Given the description of an element on the screen output the (x, y) to click on. 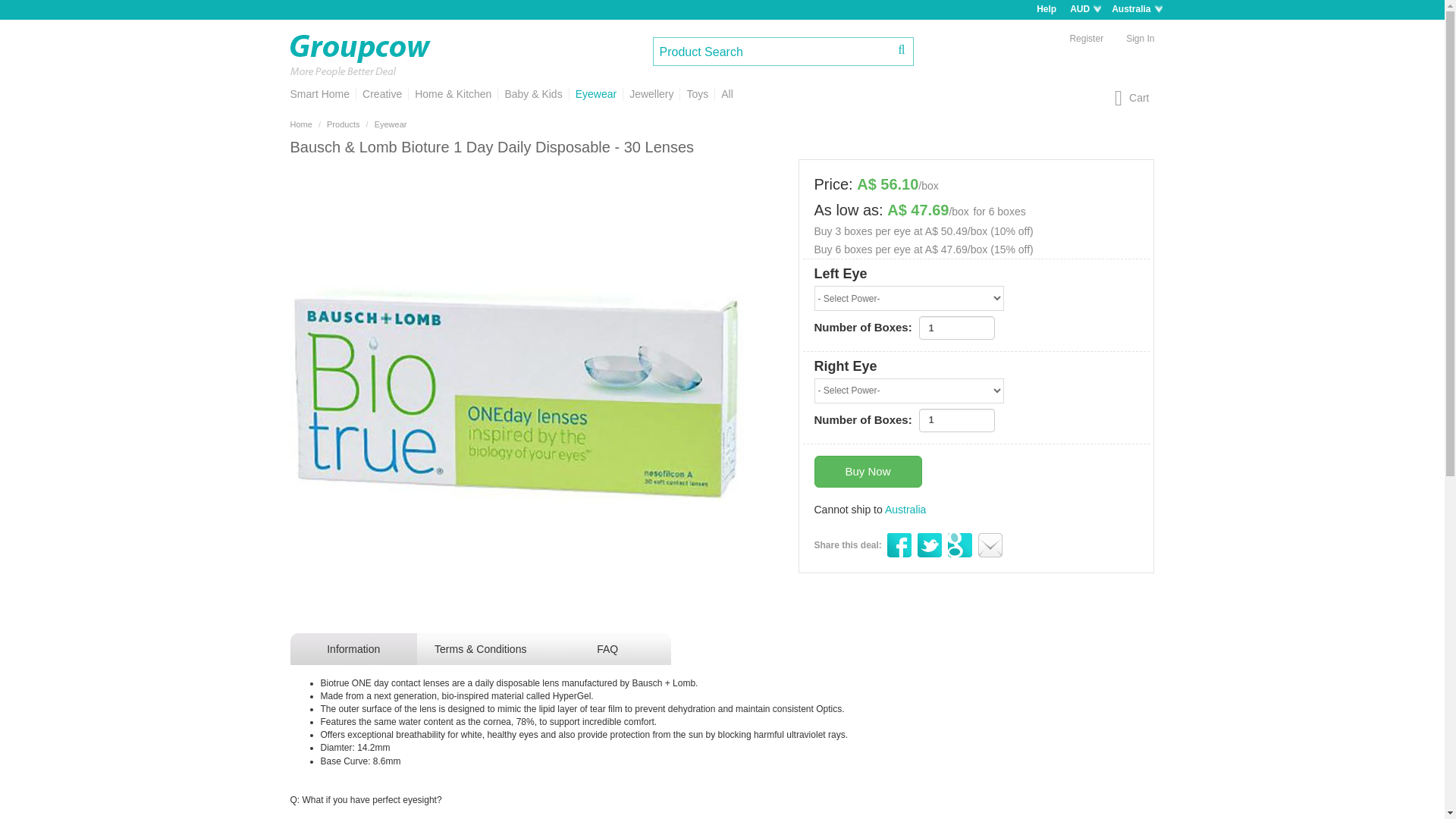
Creative (381, 93)
AUD (1086, 10)
Register (1086, 38)
Search (901, 49)
1 (956, 327)
Sign In (1140, 38)
Help (1046, 9)
1 (956, 420)
Eyewear (596, 93)
Smart Home (322, 93)
